Given the description of an element on the screen output the (x, y) to click on. 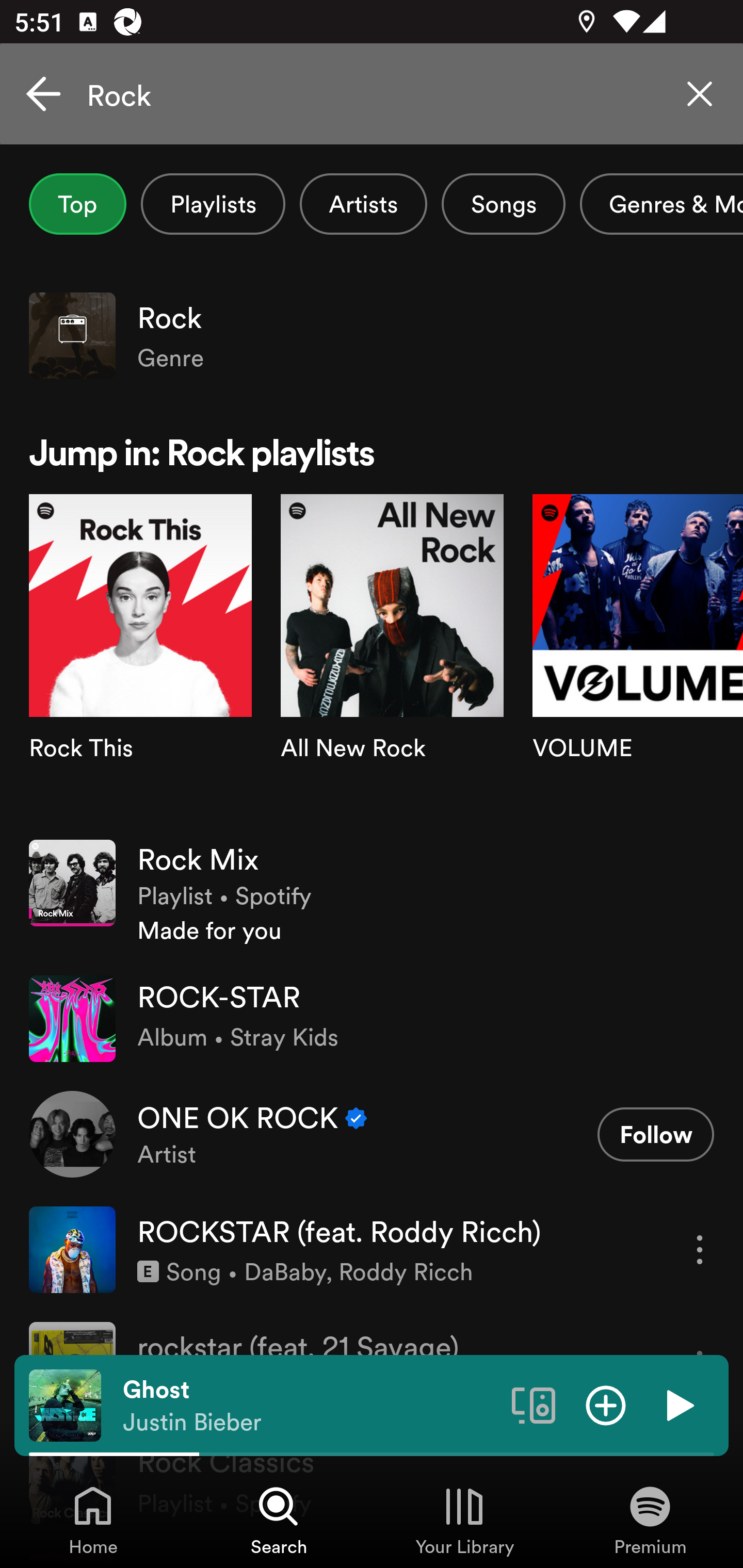
Rock (371, 93)
Cancel (43, 93)
Clear search query (699, 93)
Top (77, 203)
Playlists (213, 203)
Artists (363, 203)
Songs (503, 203)
Genres & Moods (661, 203)
Rock Genre (371, 335)
Search card image Rock This (139, 658)
Search card image All New Rock (391, 658)
Search card image VOLUME (637, 658)
Rock Mix Playlist • Spotify Made for you (371, 892)
ROCK-STAR Album • Stray Kids (371, 1019)
ONE OK ROCK Verified Artist Follow Follow (371, 1134)
Follow (655, 1134)
More options for song ROCKSTAR (feat. Roddy Ricch) (699, 1249)
Ghost Justin Bieber (309, 1405)
The cover art of the currently playing track (64, 1404)
Connect to a device. Opens the devices menu (533, 1404)
Add item (605, 1404)
Play (677, 1404)
Home, Tab 1 of 4 Home Home (92, 1519)
Search, Tab 2 of 4 Search Search (278, 1519)
Your Library, Tab 3 of 4 Your Library Your Library (464, 1519)
Premium, Tab 4 of 4 Premium Premium (650, 1519)
